Given the description of an element on the screen output the (x, y) to click on. 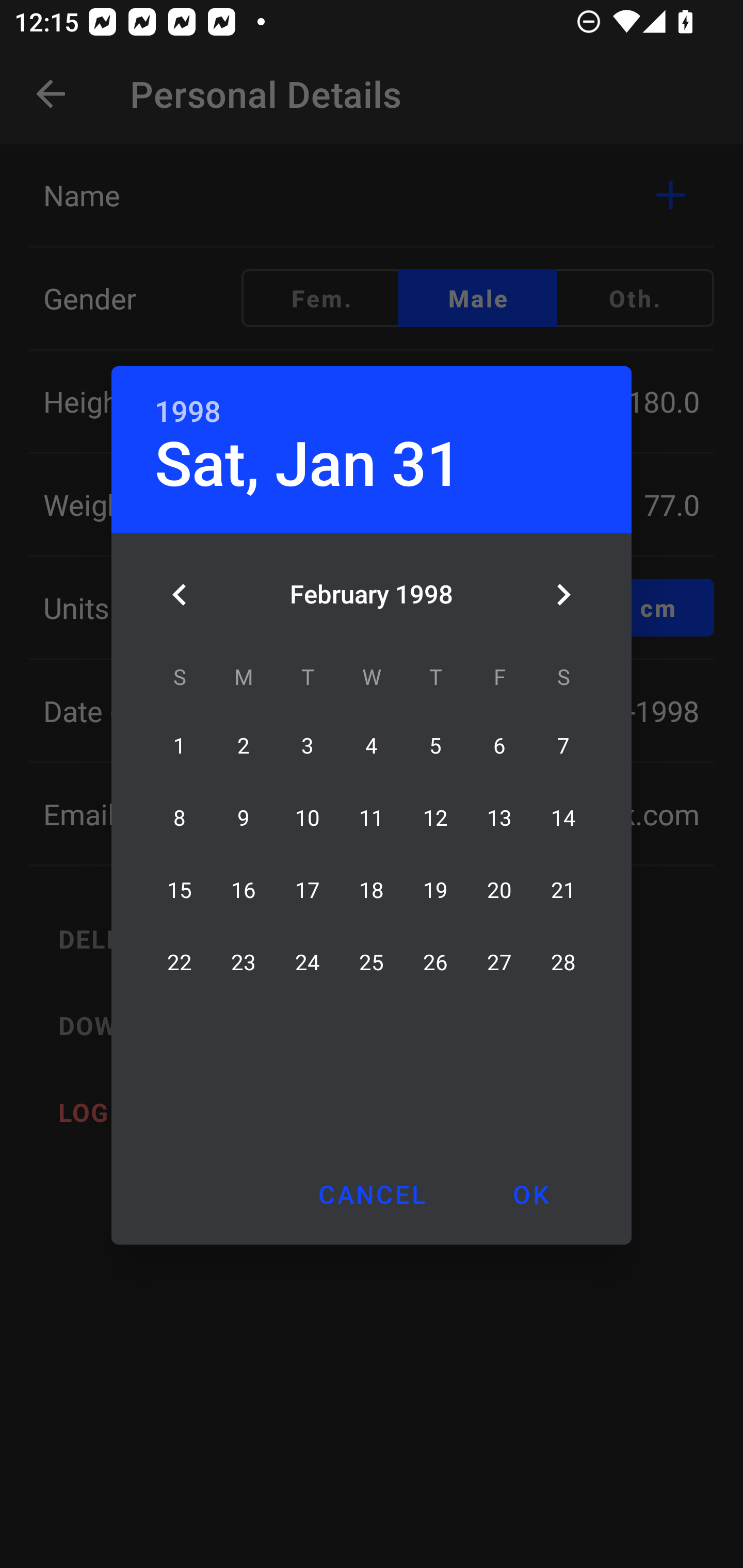
1998 (187, 412)
Sat, Jan 31 (308, 464)
Previous month (178, 594)
Next month (563, 594)
1 01 February 1998 (179, 746)
2 02 February 1998 (243, 746)
3 03 February 1998 (307, 746)
4 04 February 1998 (371, 746)
5 05 February 1998 (435, 746)
6 06 February 1998 (499, 746)
7 07 February 1998 (563, 746)
8 08 February 1998 (179, 818)
9 09 February 1998 (243, 818)
10 10 February 1998 (307, 818)
11 11 February 1998 (371, 818)
12 12 February 1998 (435, 818)
13 13 February 1998 (499, 818)
14 14 February 1998 (563, 818)
15 15 February 1998 (179, 890)
16 16 February 1998 (243, 890)
17 17 February 1998 (307, 890)
18 18 February 1998 (371, 890)
19 19 February 1998 (435, 890)
20 20 February 1998 (499, 890)
21 21 February 1998 (563, 890)
22 22 February 1998 (179, 962)
23 23 February 1998 (243, 962)
24 24 February 1998 (307, 962)
25 25 February 1998 (371, 962)
26 26 February 1998 (435, 962)
27 27 February 1998 (499, 962)
28 28 February 1998 (563, 962)
CANCEL (371, 1193)
OK (530, 1193)
